Given the description of an element on the screen output the (x, y) to click on. 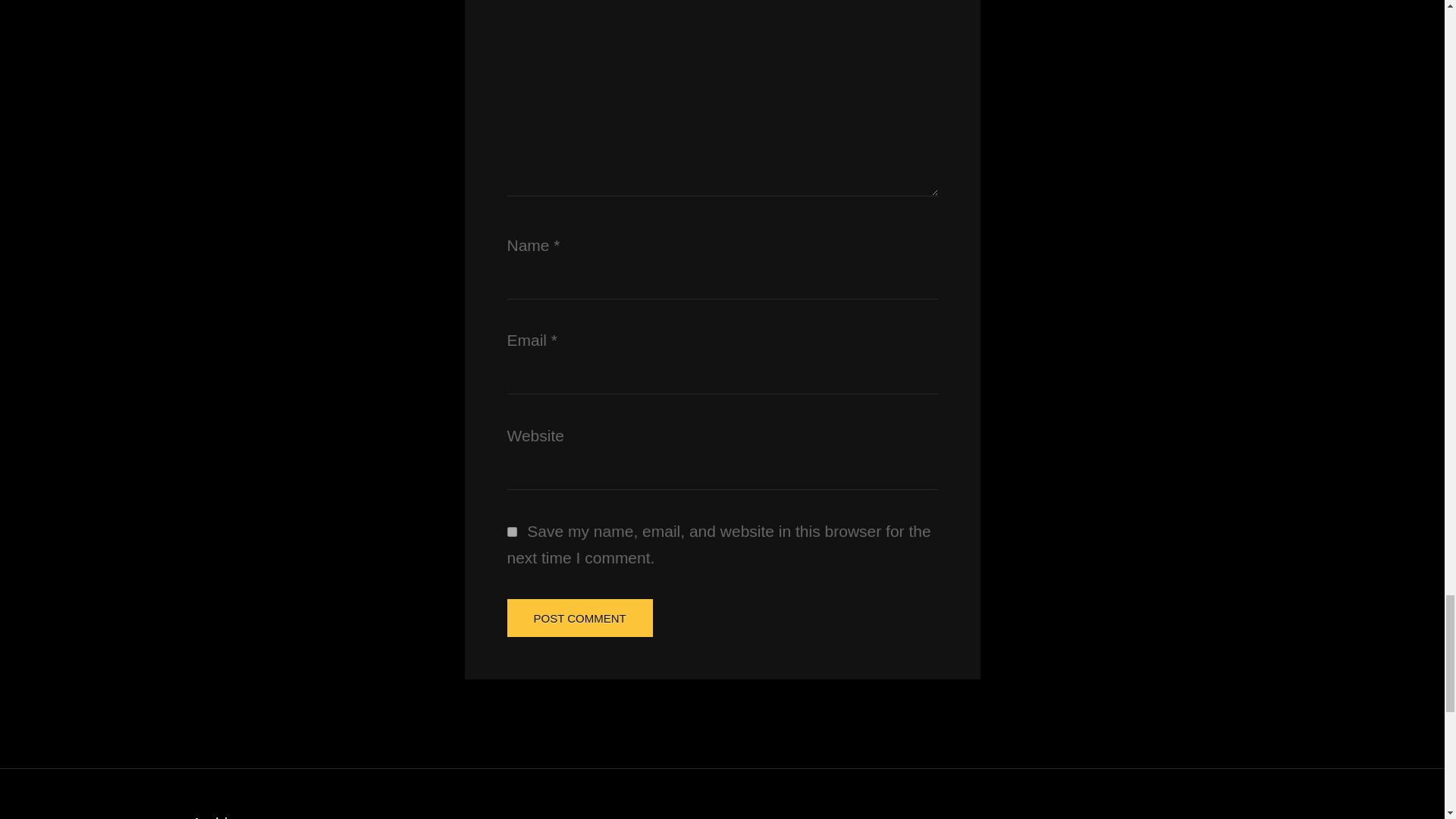
Post Comment (579, 617)
yes (511, 532)
Post Comment (579, 617)
